Given the description of an element on the screen output the (x, y) to click on. 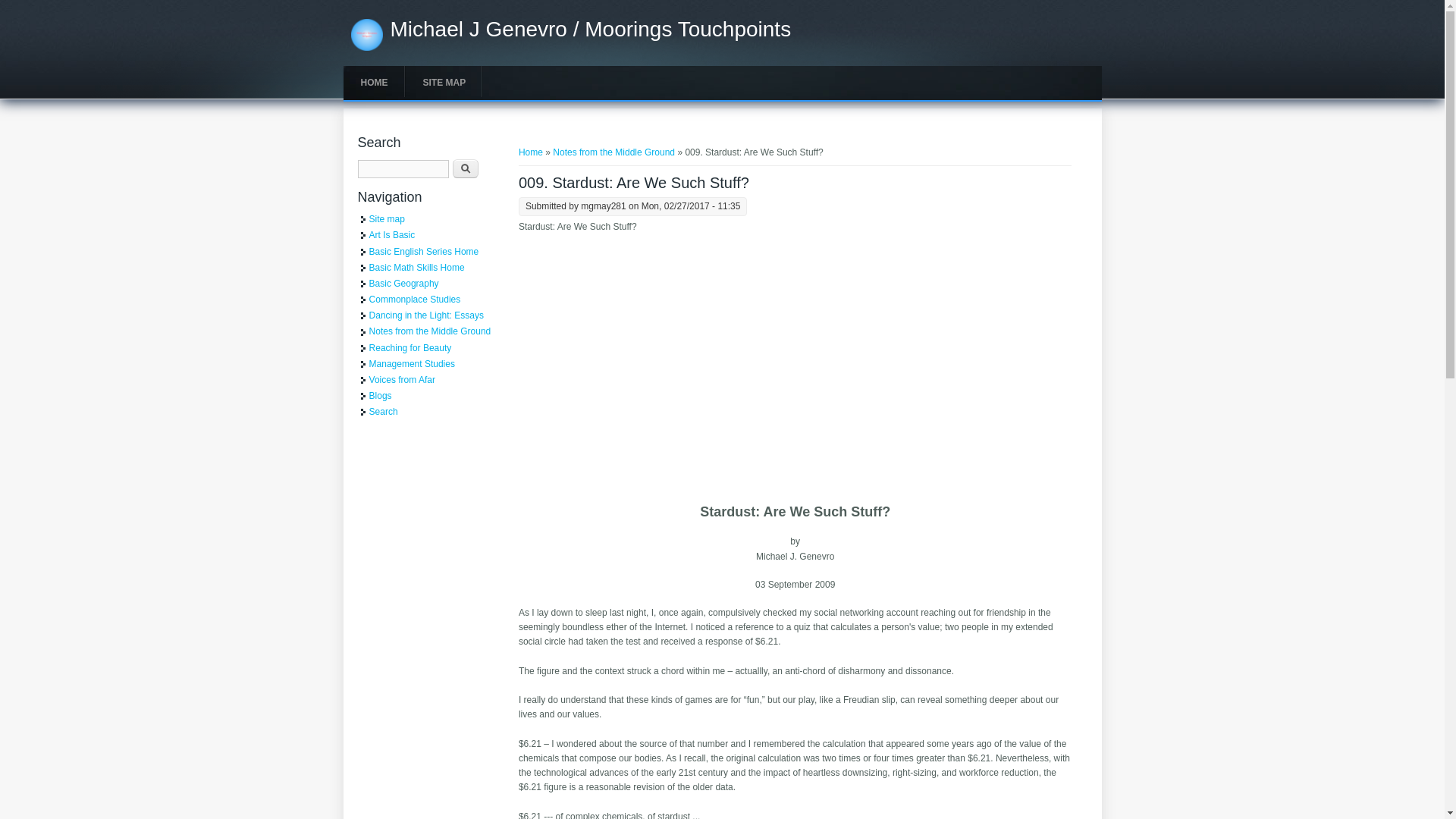
Commonplace Studies (415, 299)
Notes from the Middle Ground (430, 330)
Management Studies (411, 363)
Notes from the Middle Ground (614, 152)
Basic English Series Home (424, 250)
Basic Math Skills Home (416, 267)
Search (383, 411)
Blogs (380, 395)
SITE MAP (443, 82)
Dancing in the Light: Essays (426, 315)
Art Is Basic (391, 235)
Search (465, 168)
Home (530, 152)
HOME (373, 82)
Search (465, 168)
